Given the description of an element on the screen output the (x, y) to click on. 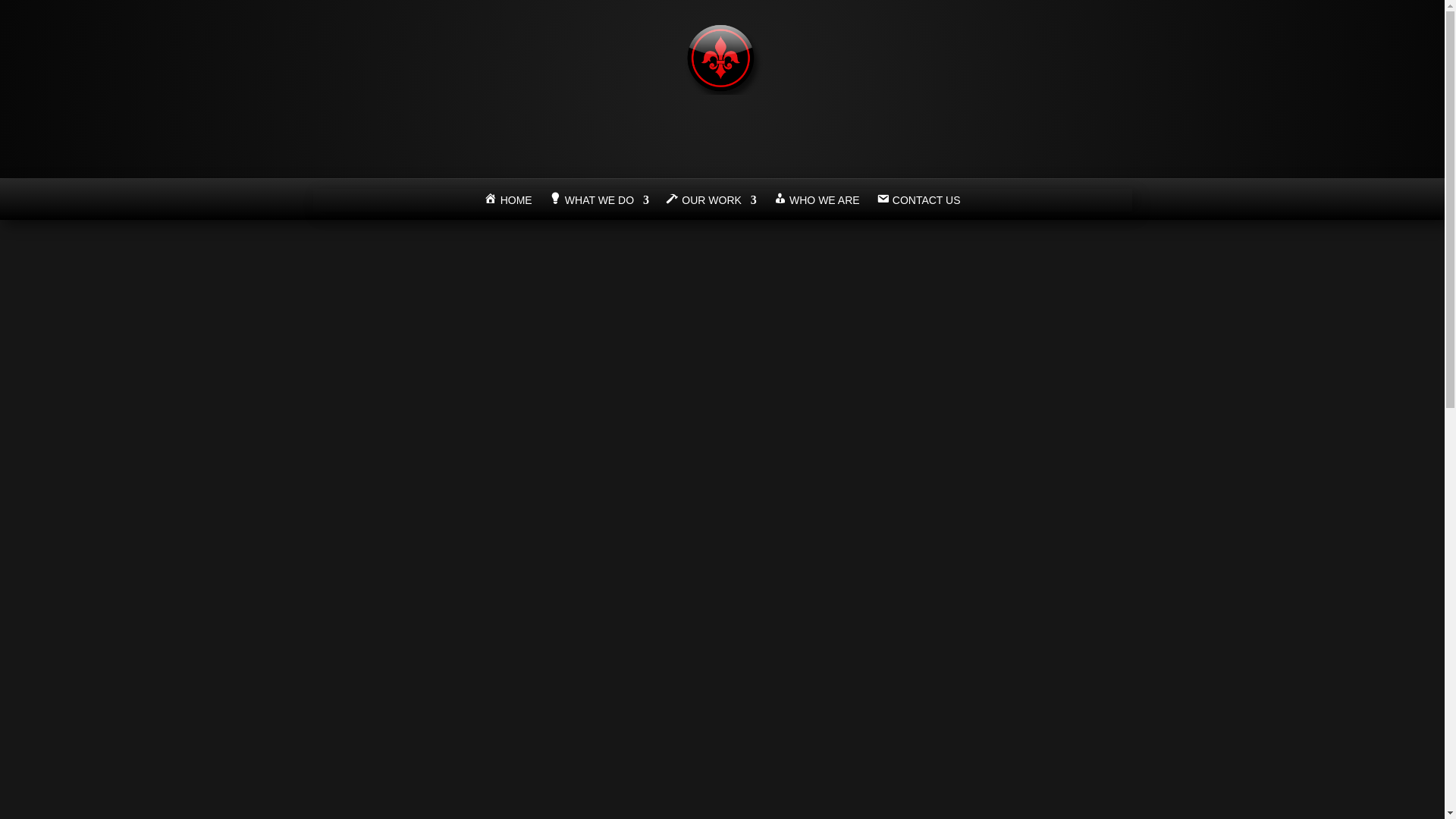
WHO WE ARE (816, 202)
HOME (507, 202)
OUR WORK (711, 202)
Preeminent Logo 2 (721, 89)
WHAT WE DO (598, 202)
CONTACT US (918, 202)
